Given the description of an element on the screen output the (x, y) to click on. 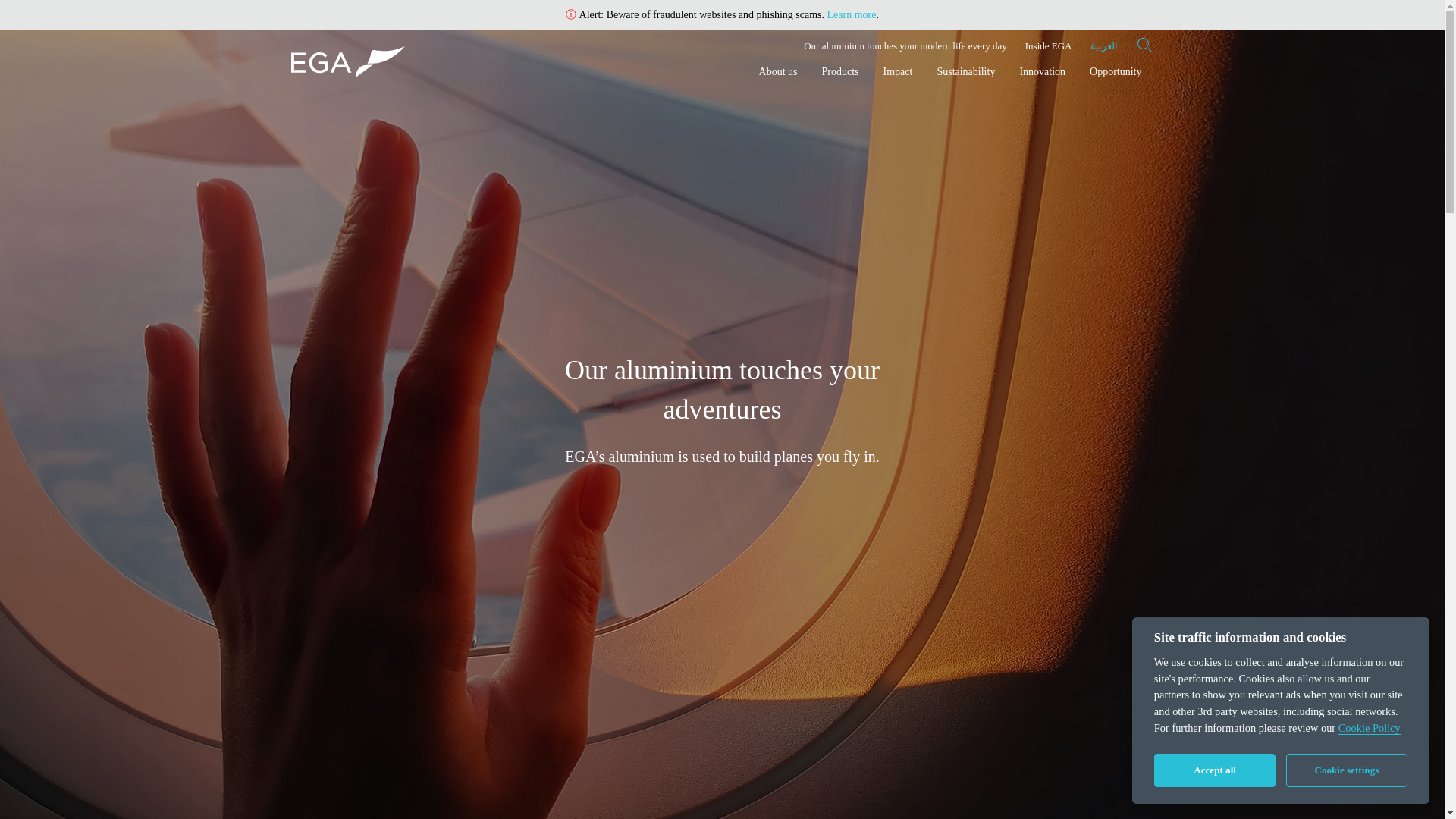
Impact (897, 71)
Inside EGA (1048, 45)
Our aluminium touches your modern life every day (905, 45)
Products (839, 71)
Cookie Policy (1369, 727)
Fraud warning (851, 14)
Sustainability (965, 71)
Learn more (851, 14)
About us (777, 71)
